Given the description of an element on the screen output the (x, y) to click on. 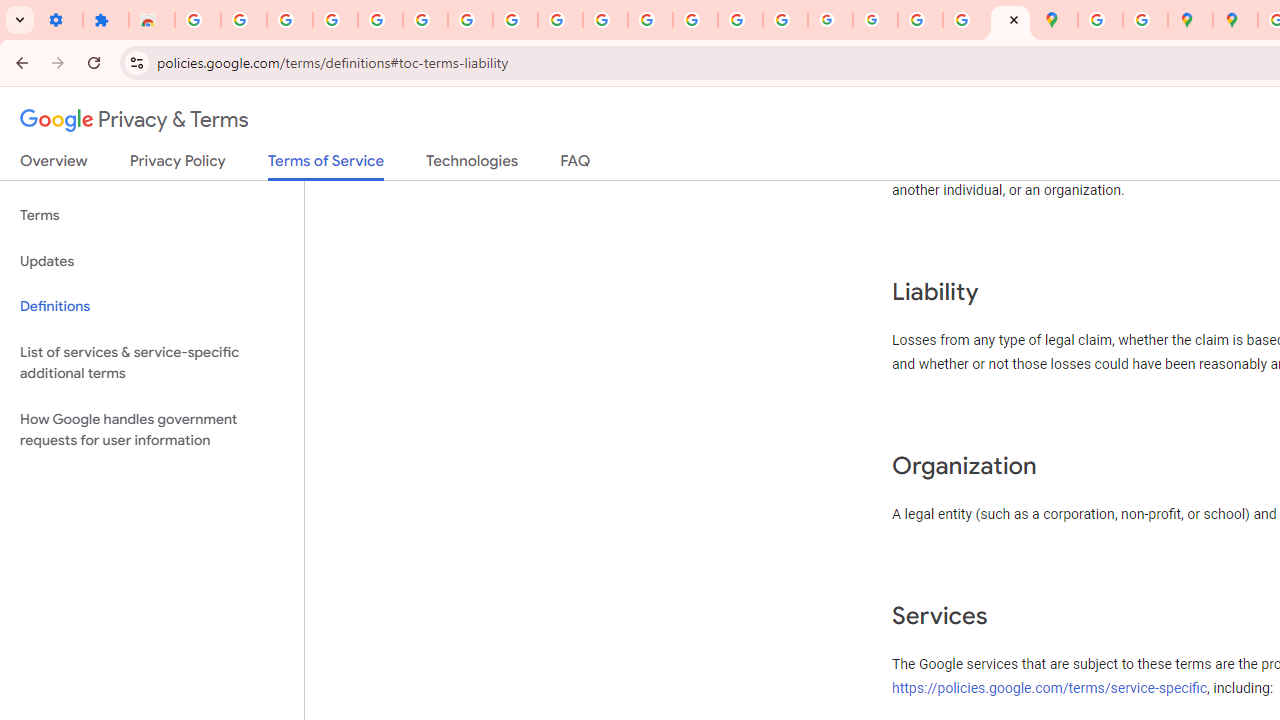
View site information (136, 62)
Google Account (514, 20)
Extensions (106, 20)
Technologies (472, 165)
Google Maps (1055, 20)
YouTube (559, 20)
Learn how to find your photos - Google Photos Help (335, 20)
